Given the description of an element on the screen output the (x, y) to click on. 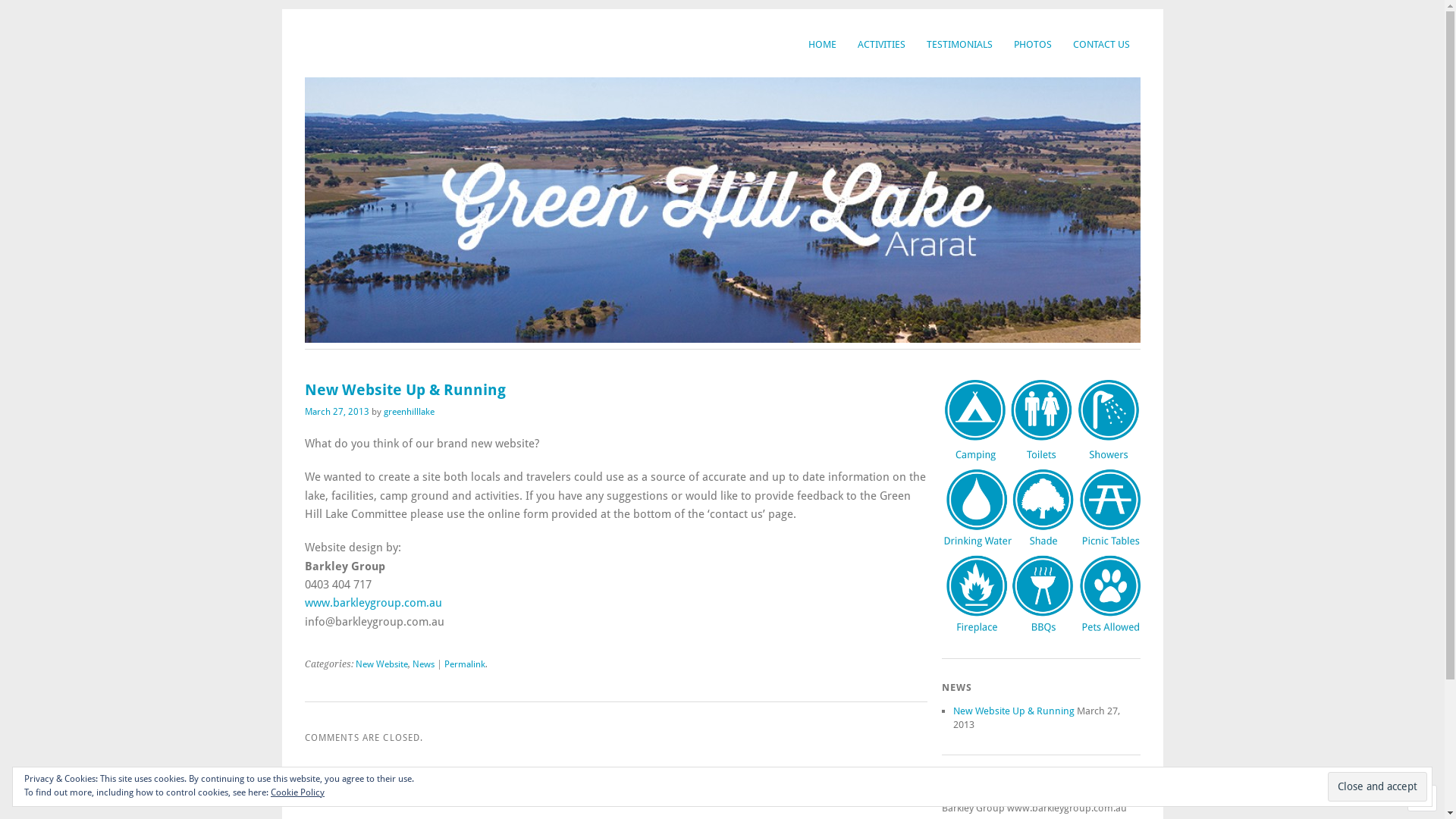
GREEN HILL LAKE ARARAT Element type: text (462, 46)
HOME Element type: text (822, 43)
Permalink Element type: text (464, 658)
March 27, 2013 Element type: text (336, 411)
News Element type: text (423, 658)
Cookie Policy Element type: text (297, 792)
TESTIMONIALS Element type: text (959, 43)
PHOTOS Element type: text (1031, 43)
Close and accept Element type: text (1377, 786)
www.barkleygroup.com.au Element type: text (373, 602)
ACTIVITIES Element type: text (880, 43)
New Website Element type: text (380, 658)
CONTACT US Element type: text (1100, 43)
greenhilllake Element type: text (408, 411)
New Website Up & Running Element type: text (1012, 710)
